Given the description of an element on the screen output the (x, y) to click on. 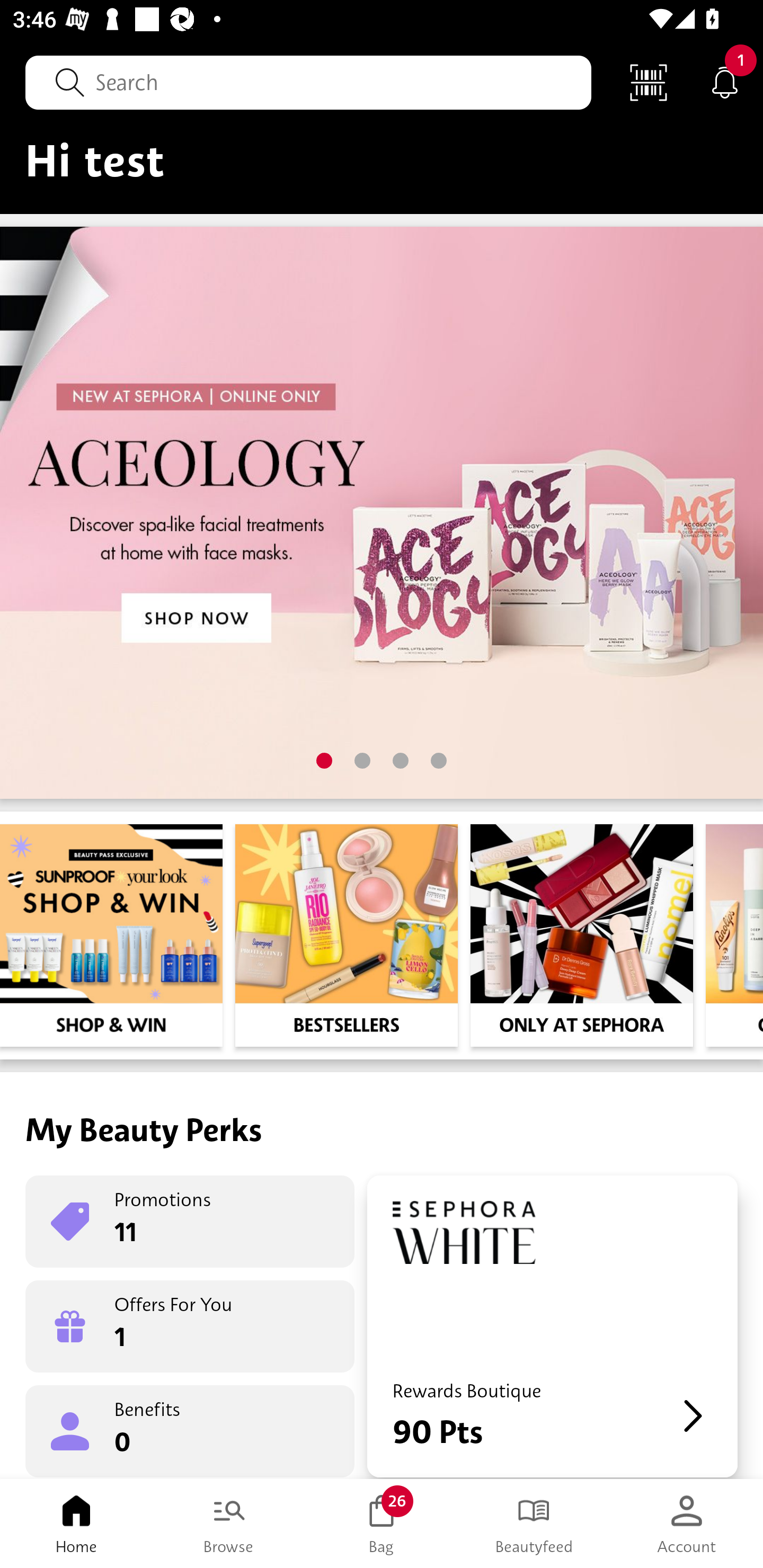
Scan Code (648, 81)
Notifications (724, 81)
Search (308, 81)
Promotions 11 (189, 1221)
Rewards Boutique 90 Pts (552, 1326)
Offers For You 1 (189, 1326)
Benefits 0 (189, 1430)
Browse (228, 1523)
Bag 26 Bag (381, 1523)
Beautyfeed (533, 1523)
Account (686, 1523)
